Given the description of an element on the screen output the (x, y) to click on. 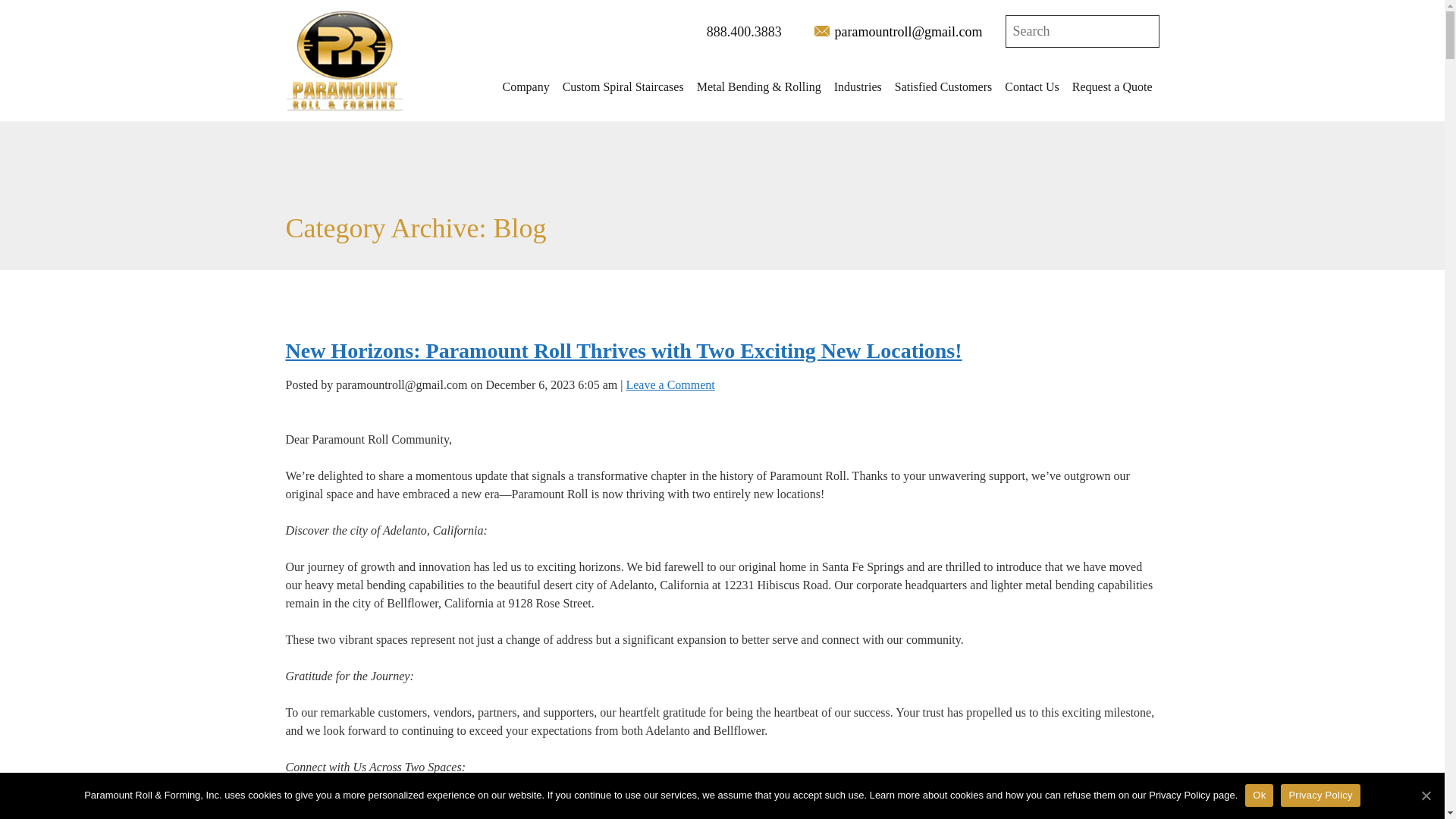
Paramount Roll Forming (344, 60)
Satisfied Customers (942, 86)
Industries (858, 86)
Email (821, 30)
Contact Us (1031, 86)
888.400.3883 (734, 32)
Request a Quote (1111, 86)
Search (1143, 30)
Company (525, 86)
Search Our Site (1053, 30)
Leave a Comment (670, 383)
Custom Spiral Staircases (623, 86)
